Given the description of an element on the screen output the (x, y) to click on. 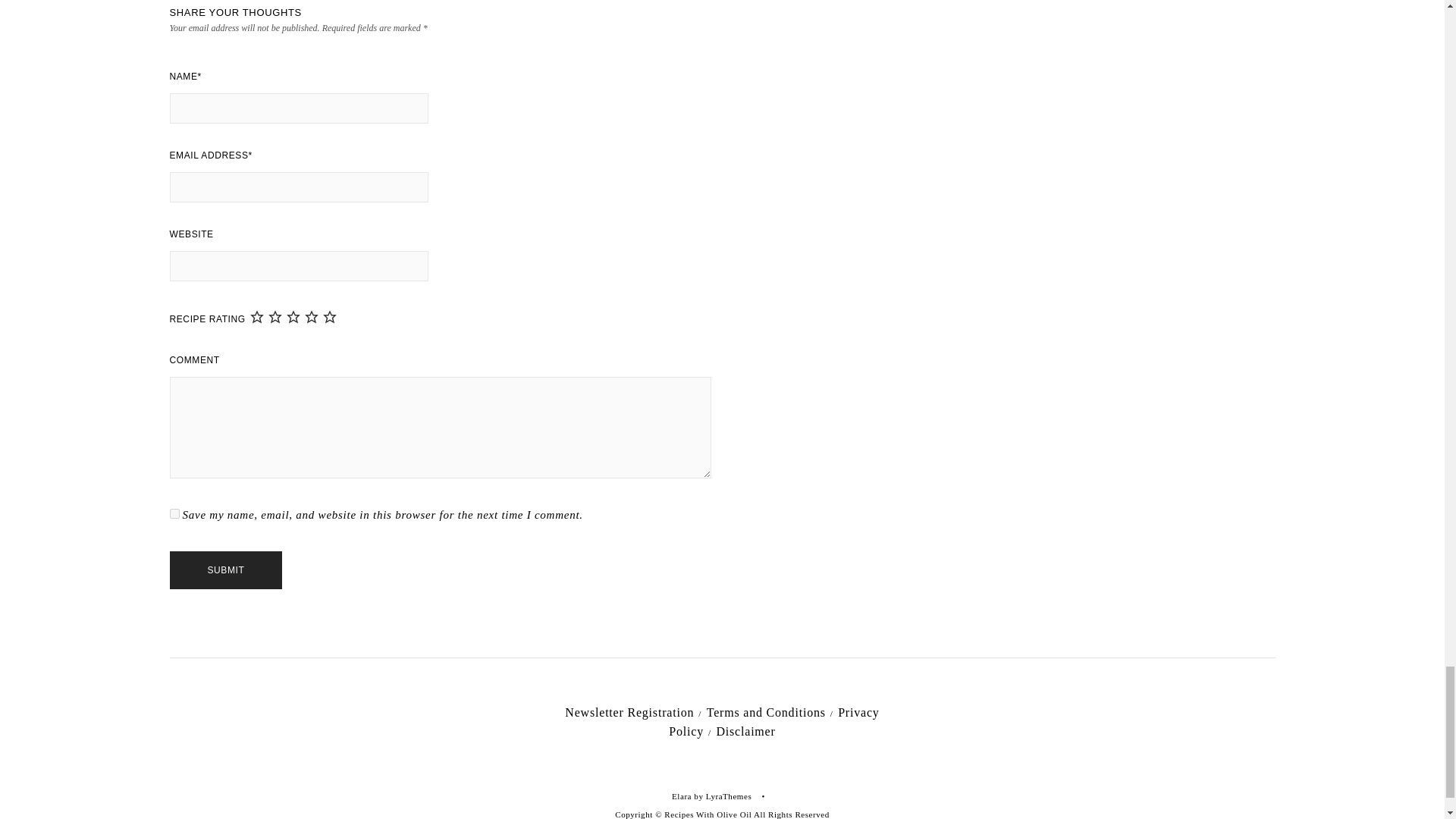
Submit (226, 569)
Submit (226, 569)
Terms and Conditions (765, 712)
Newsletter Registration (629, 712)
Privacy Policy (773, 721)
yes (174, 513)
Elara (681, 795)
Disclaimer (745, 730)
